Given the description of an element on the screen output the (x, y) to click on. 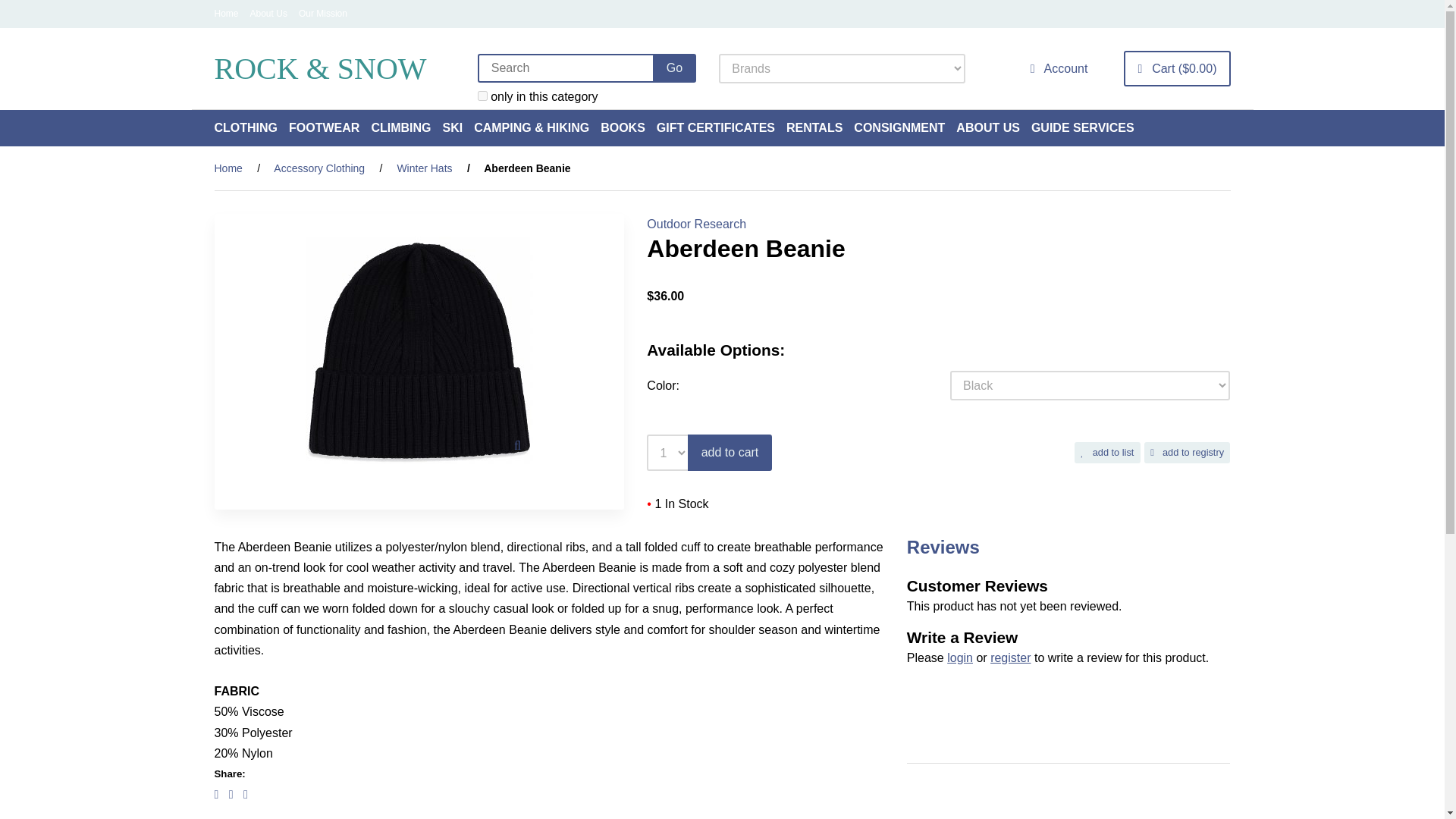
294 (482, 95)
Aberdeen Beanie (418, 350)
  Account (1059, 68)
Go (673, 68)
Home (226, 13)
Our Mission (322, 13)
About Us (268, 13)
